Given the description of an element on the screen output the (x, y) to click on. 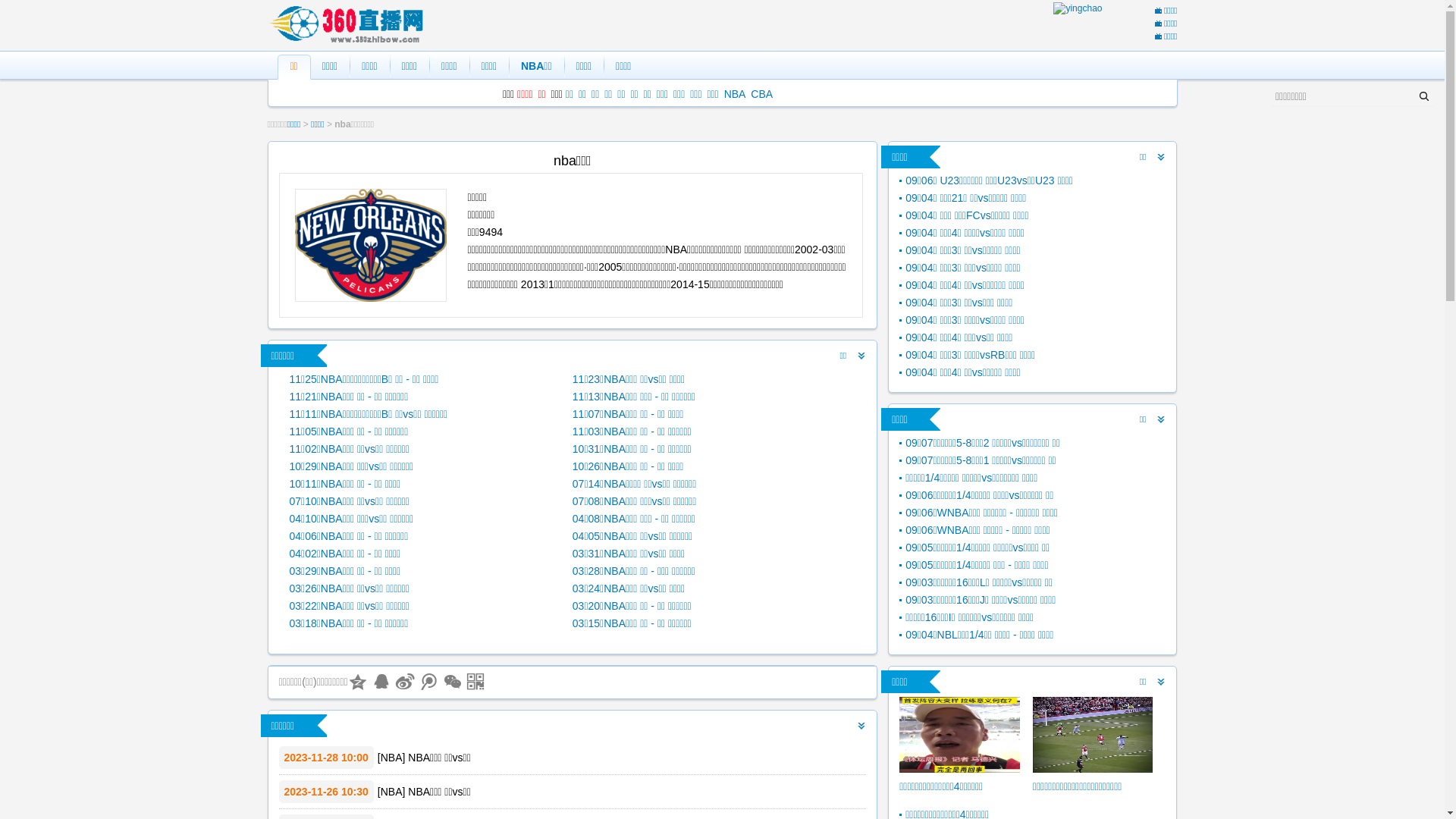
CBA Element type: text (761, 93)
NBA Element type: text (391, 791)
NBA Element type: text (391, 757)
NBA Element type: text (735, 93)
